Given the description of an element on the screen output the (x, y) to click on. 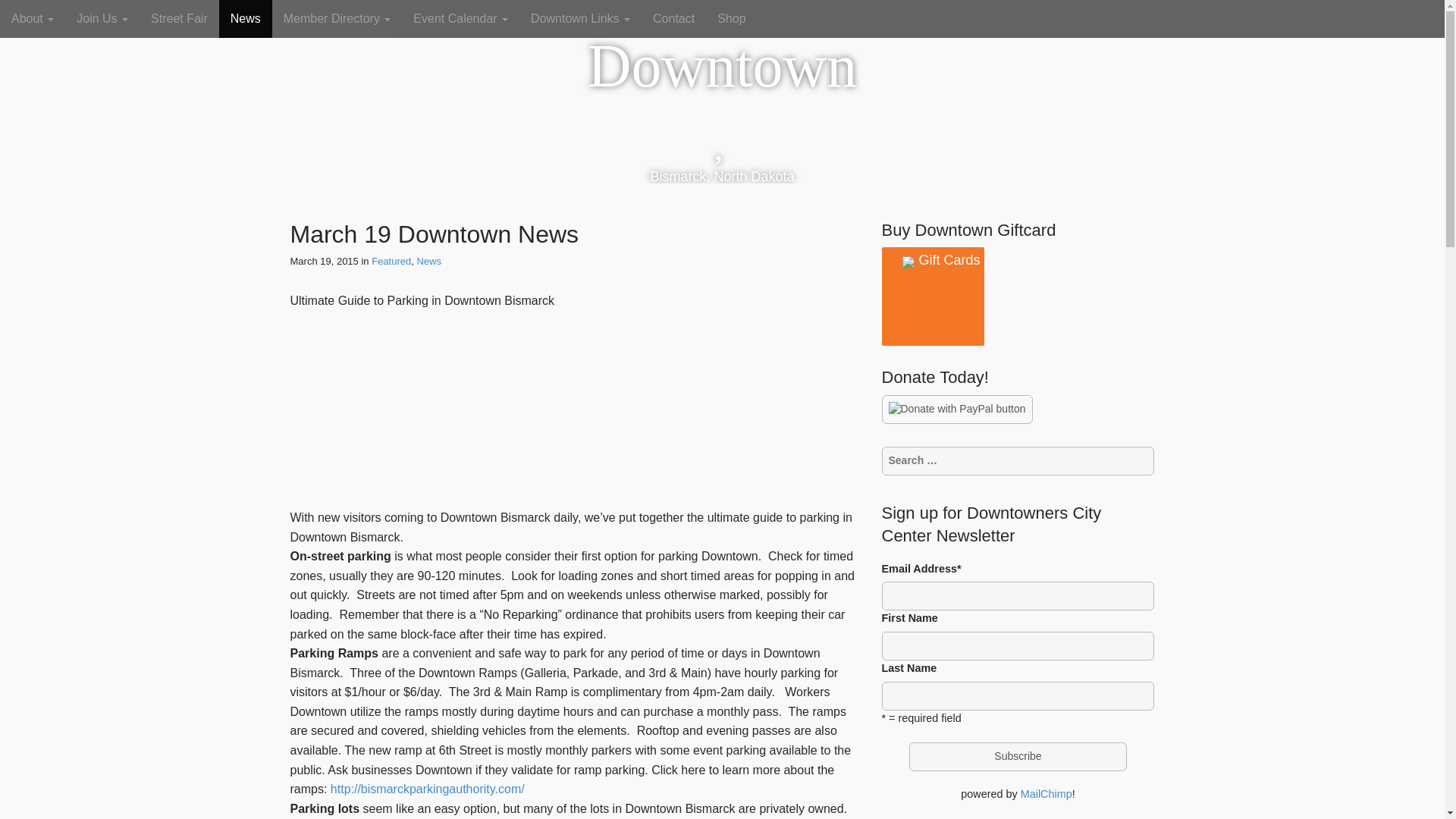
News (245, 18)
March 19, 2015 (323, 260)
News (428, 260)
Downtown Links (580, 18)
About (32, 18)
Subscribe (1017, 756)
Join Us (102, 18)
Featured (390, 260)
Event Calendar (460, 18)
Member Directory (337, 18)
